Given the description of an element on the screen output the (x, y) to click on. 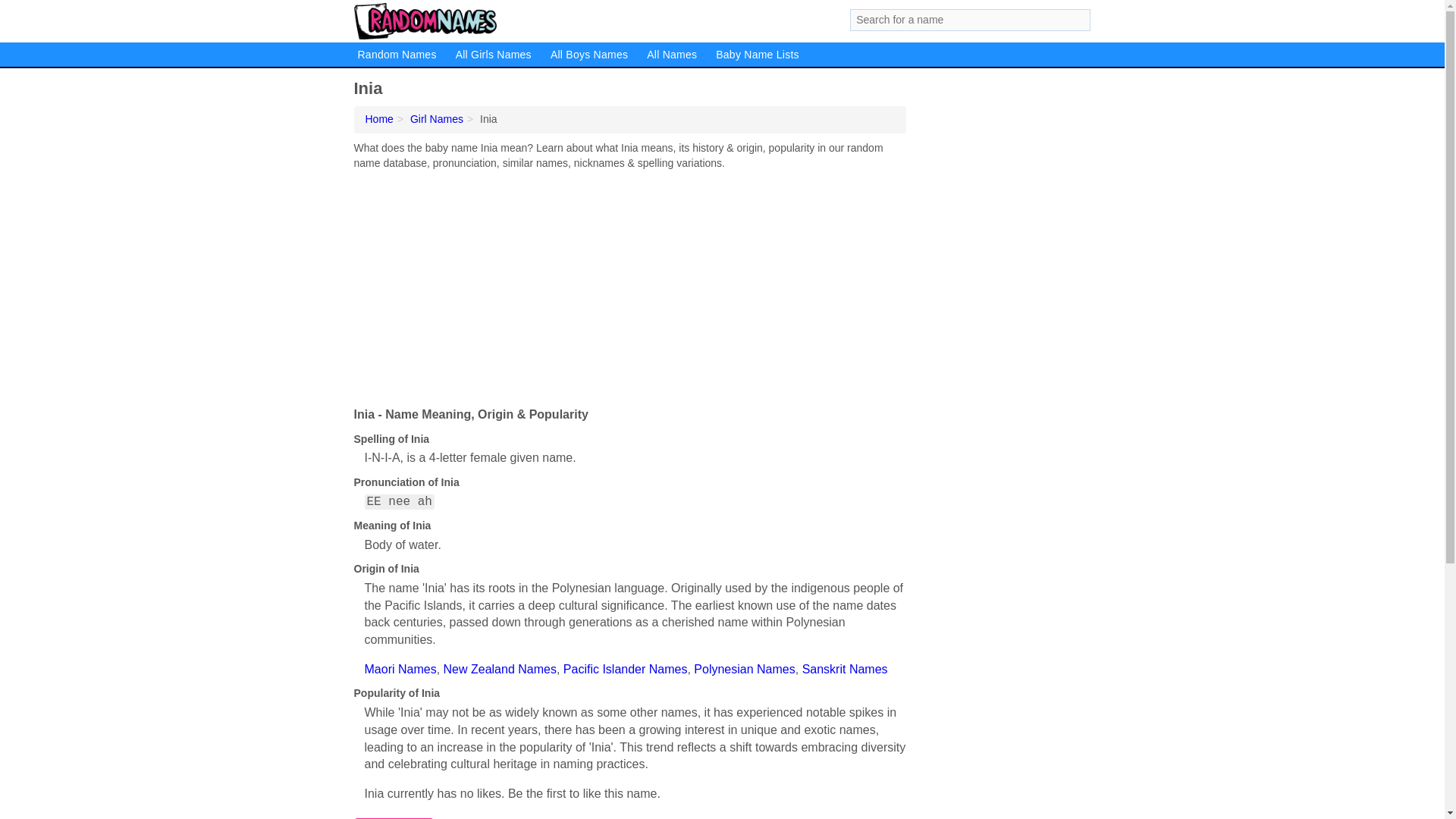
All Girls Names (493, 54)
Girl Names (436, 119)
Pacific Islander Names (625, 668)
New Zealand Names (500, 668)
All Boys Names (588, 54)
All Names A-Z (671, 54)
Polynesian Names (744, 668)
Random Names (379, 119)
All Girls' Names A-Z (493, 54)
New Zealand Names (500, 668)
Maori Names (399, 668)
Inia (488, 119)
Girl Names (436, 119)
All Boys' Names A-Z (588, 54)
